Given the description of an element on the screen output the (x, y) to click on. 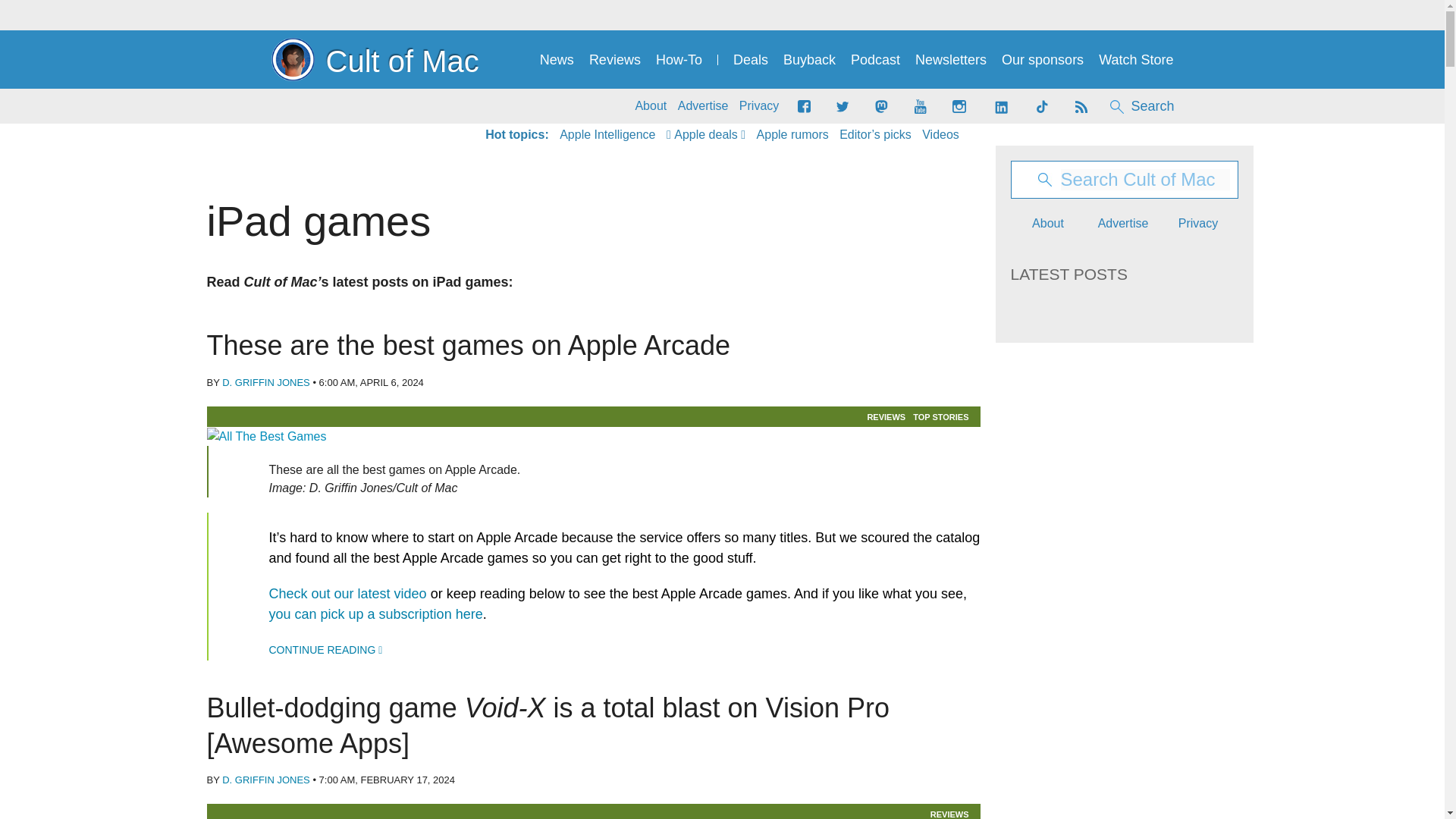
Reviews (613, 59)
Privacy (758, 105)
Our sponsors (1042, 59)
Videos (940, 134)
Apple deals  (705, 134)
Apple Intelligence (607, 134)
These are the best games on Apple Arcade (592, 436)
Buyback (809, 59)
Advertise (703, 105)
Posts by D. Griffin Jones (266, 382)
Cult of Mac (374, 59)
Apple rumors (792, 134)
Apple Intelligence (607, 134)
Apple legal battles (792, 134)
Podcast (875, 59)
